Given the description of an element on the screen output the (x, y) to click on. 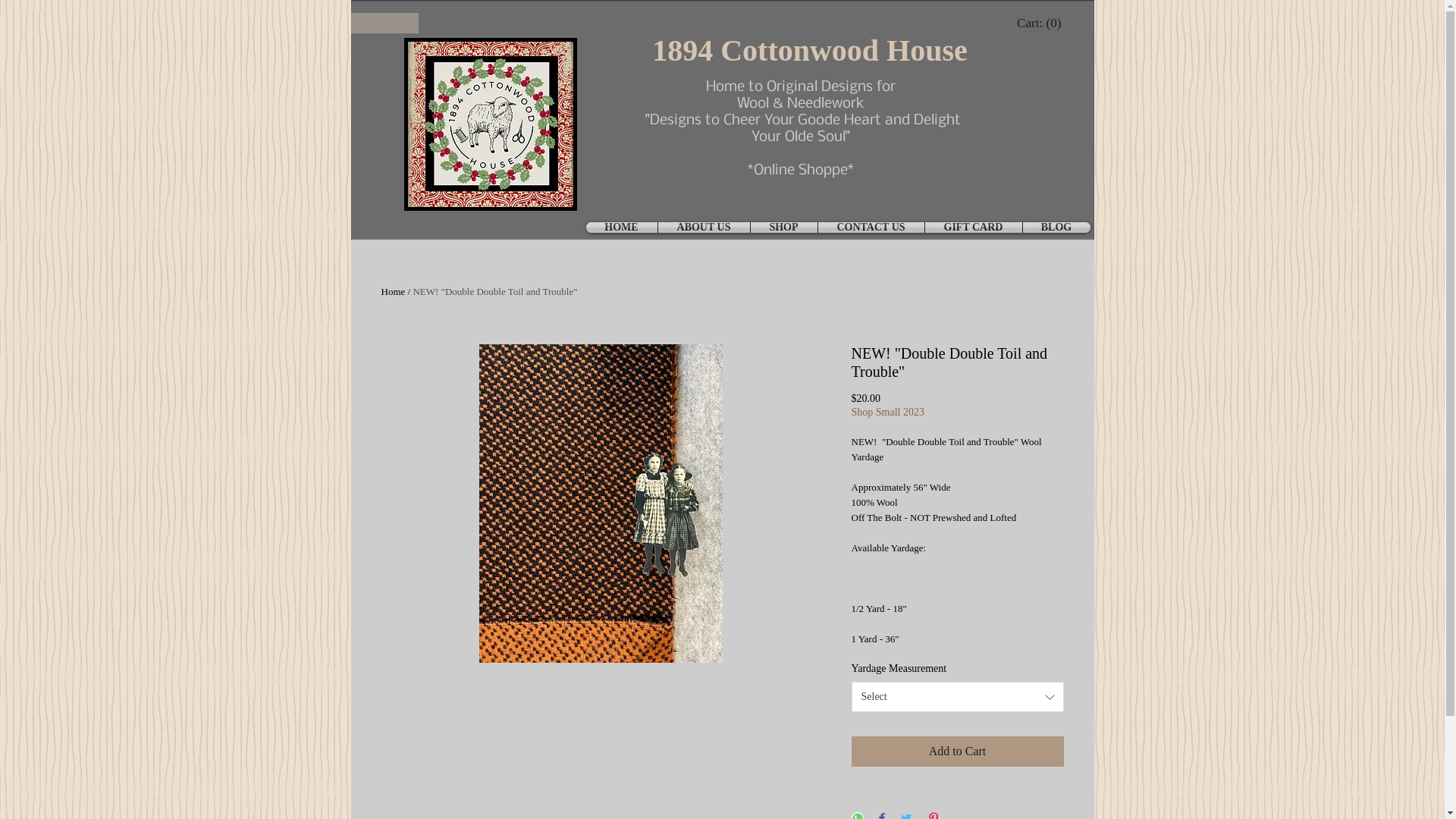
ABOUT US Element type: text (703, 227)
NEW! "Double Double Toil and Trouble" Element type: text (494, 291)
SHOP Element type: text (783, 227)
Select Element type: text (956, 696)
HOME Element type: text (620, 227)
BLOG Element type: text (1055, 227)
GIFT CARD Element type: text (973, 227)
Cart: (0) Element type: text (1040, 22)
Home Element type: text (392, 291)
IMG_2301.jpg Element type: hover (489, 123)
Add to Cart Element type: text (956, 751)
CONTACT US Element type: text (870, 227)
